Given the description of an element on the screen output the (x, y) to click on. 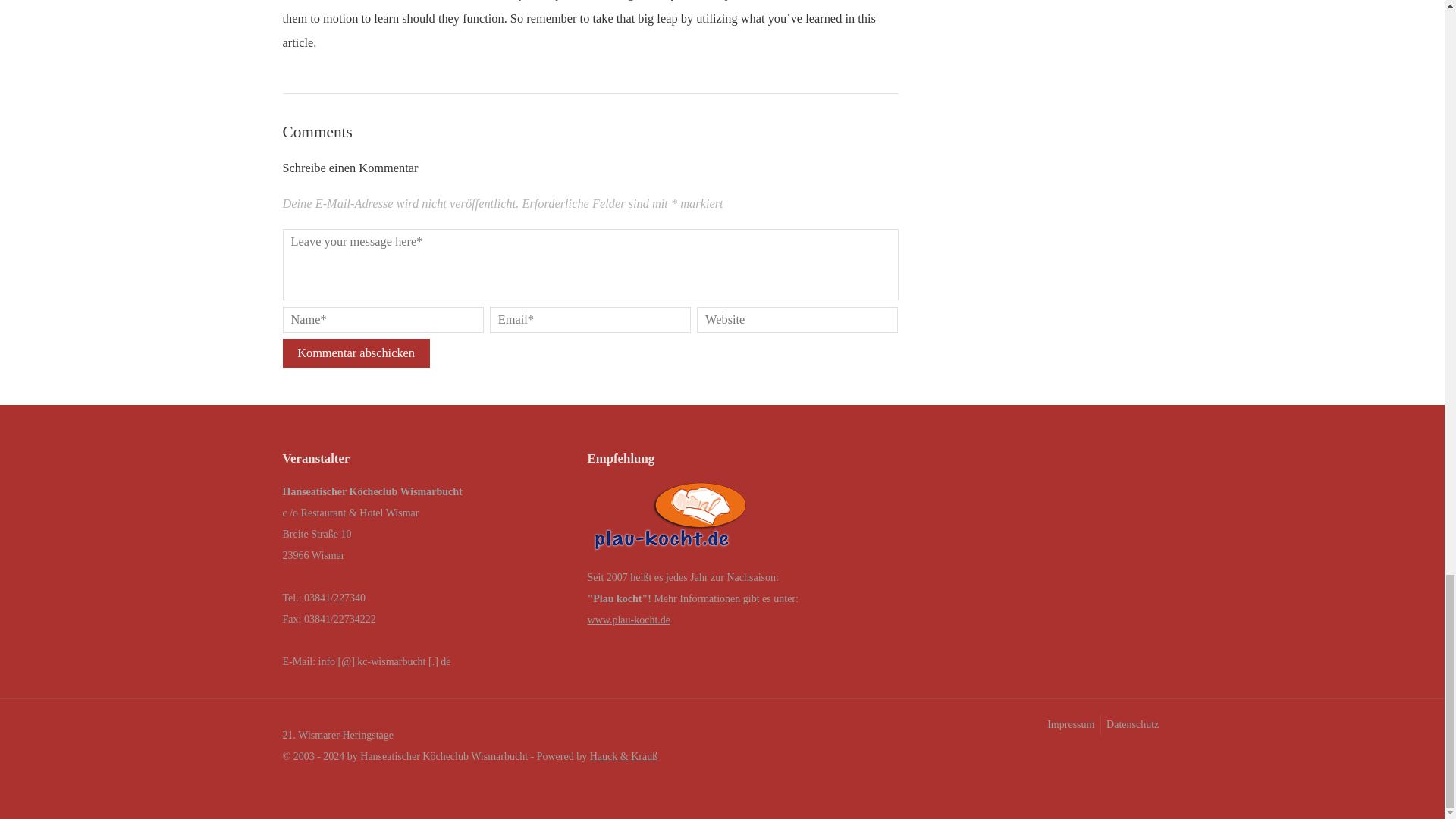
Twitter (1149, 758)
www.plau-kocht.de (629, 619)
plau-kocht-logo (671, 520)
Facebook (1120, 758)
Impressum (1069, 724)
Kommentar abschicken (355, 353)
Kommentar abschicken (355, 353)
Datenschutz (1130, 724)
